Given the description of an element on the screen output the (x, y) to click on. 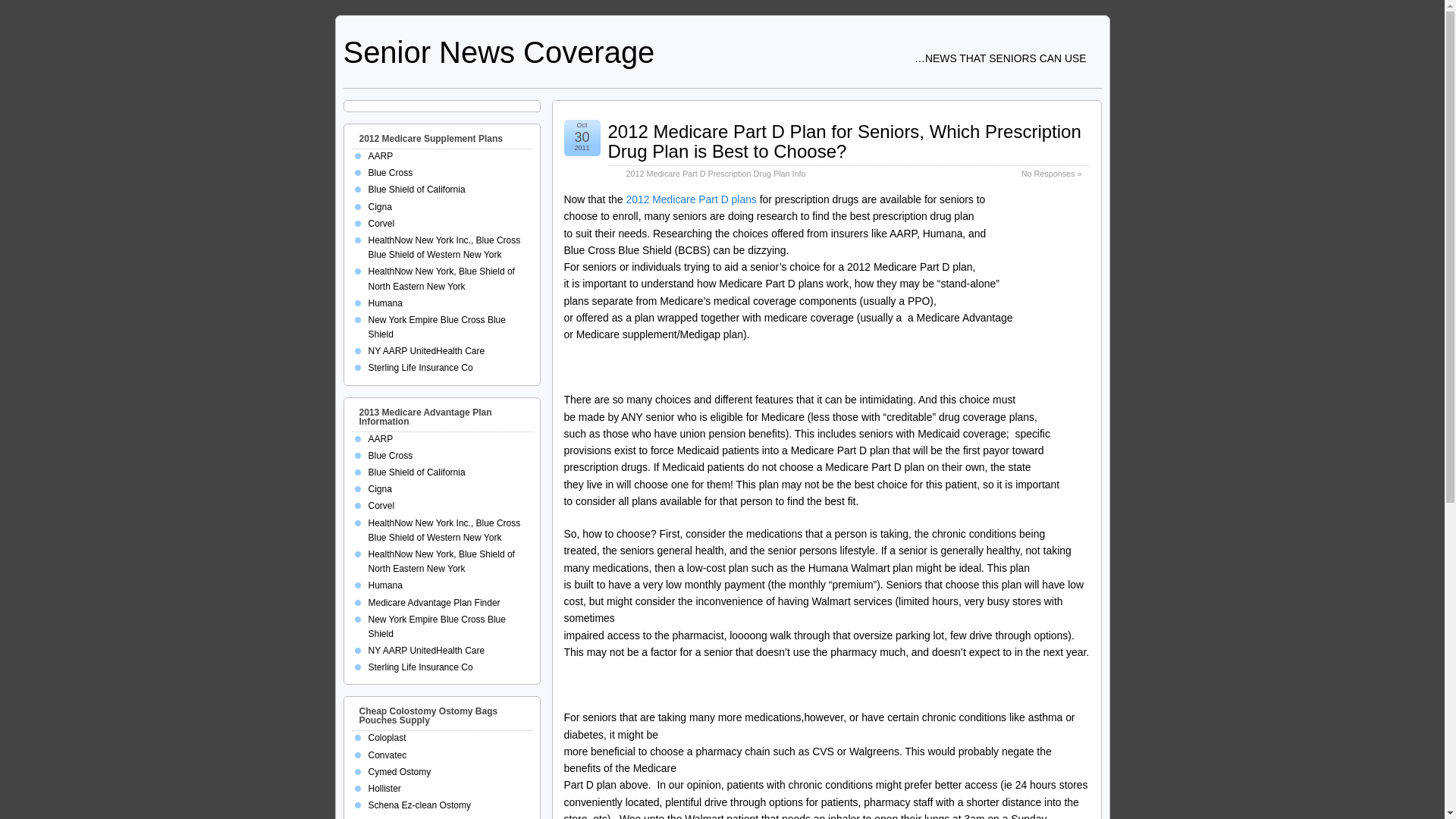
Corvel (381, 223)
Blue Shield of California (416, 189)
NY AARP UnitedHealth Care (426, 350)
New York Empire Blue Cross Blue Shield (436, 326)
2012 Medicare Part D Prescription Drug Plan Info (716, 173)
NY AARP UnitedHealth Care (426, 650)
Medicare Advantage Plan Finder (434, 602)
Convatec (387, 755)
AARP (380, 439)
Sterling Life Insurance Co (420, 367)
Sterling Life Insurance Co (420, 666)
Blue Cross (390, 455)
Blue Cross (390, 172)
